Given the description of an element on the screen output the (x, y) to click on. 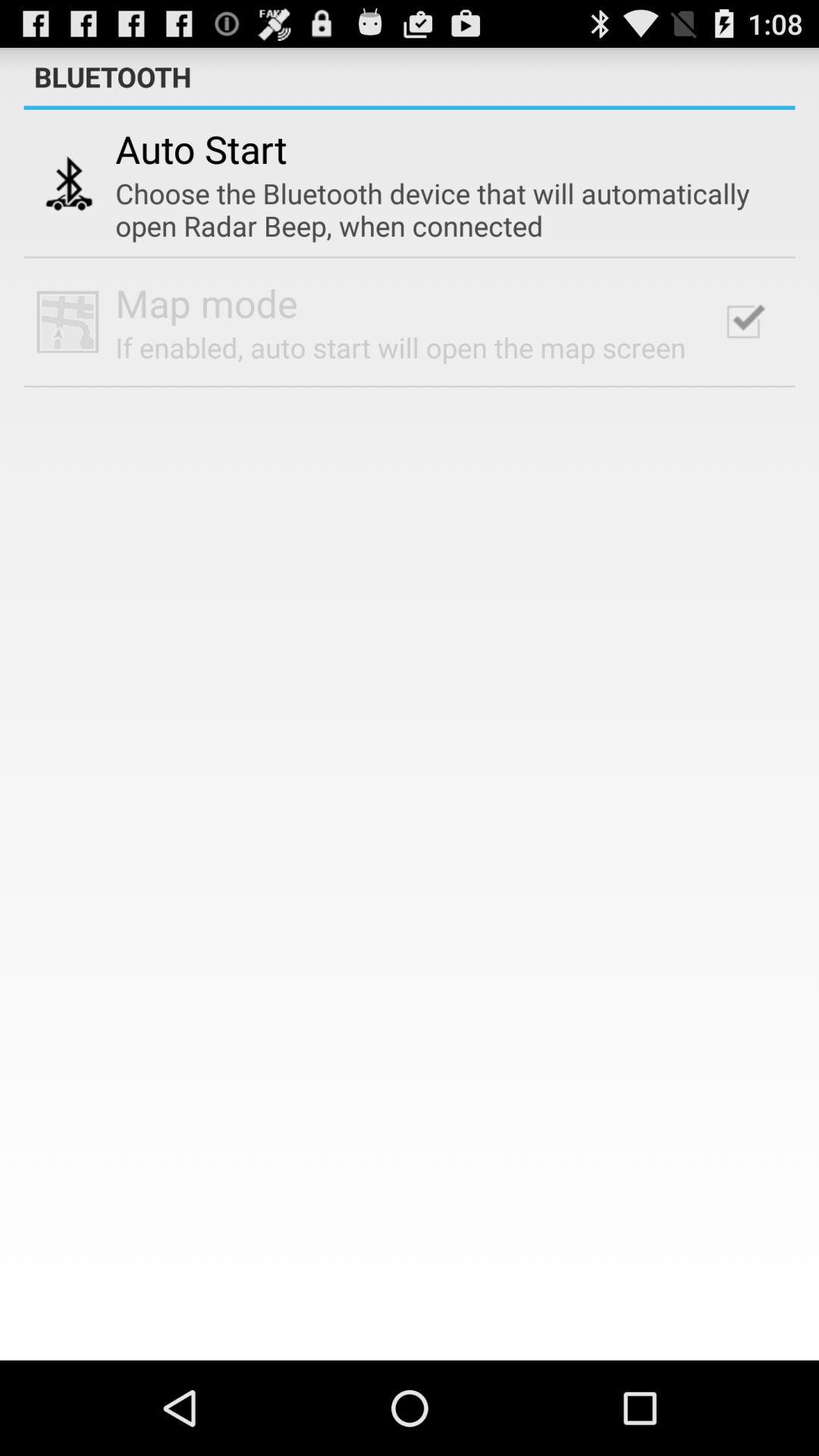
open checkbox at the top right corner (743, 321)
